Given the description of an element on the screen output the (x, y) to click on. 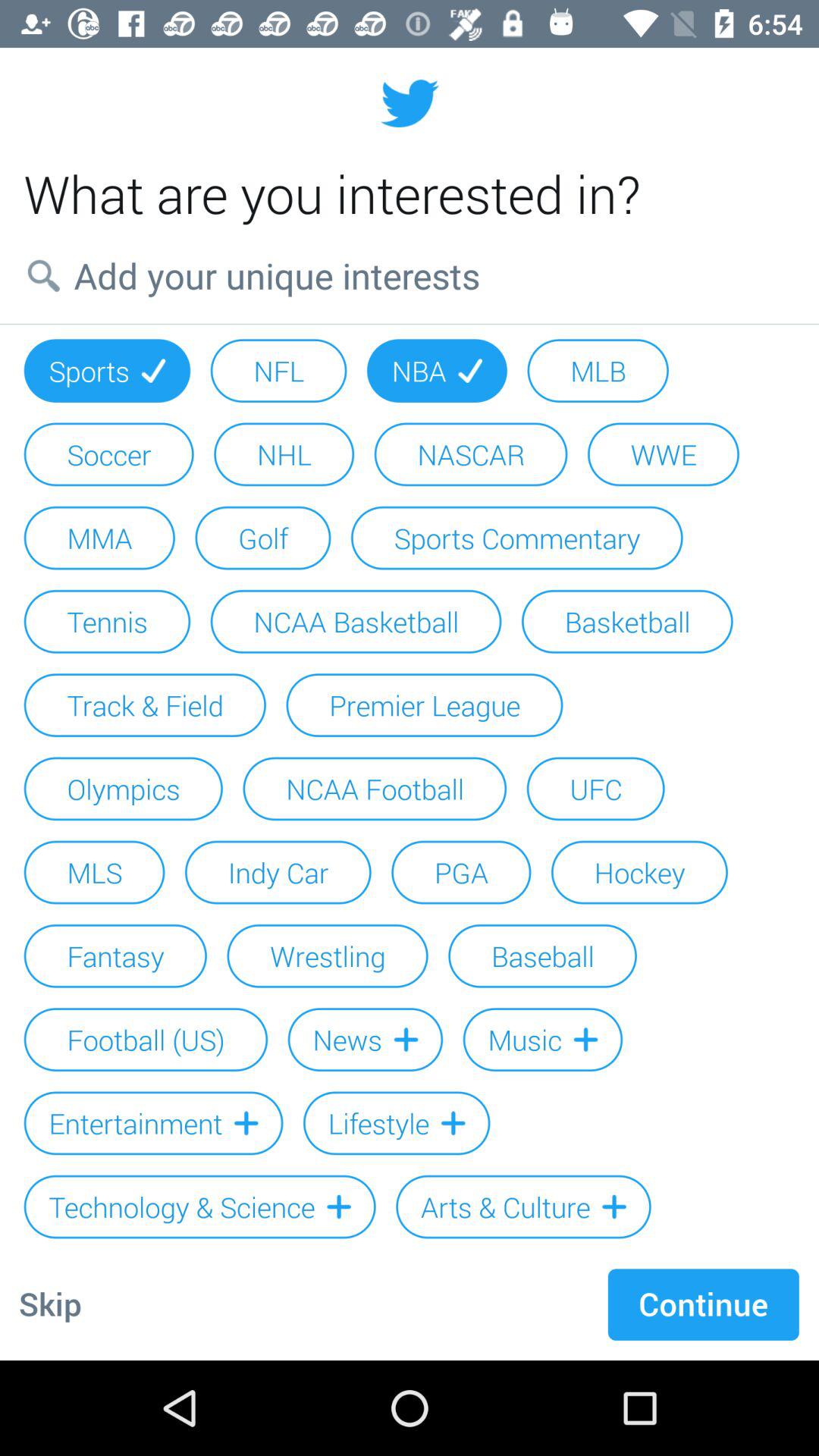
press the item to the left of the nba item (278, 370)
